Given the description of an element on the screen output the (x, y) to click on. 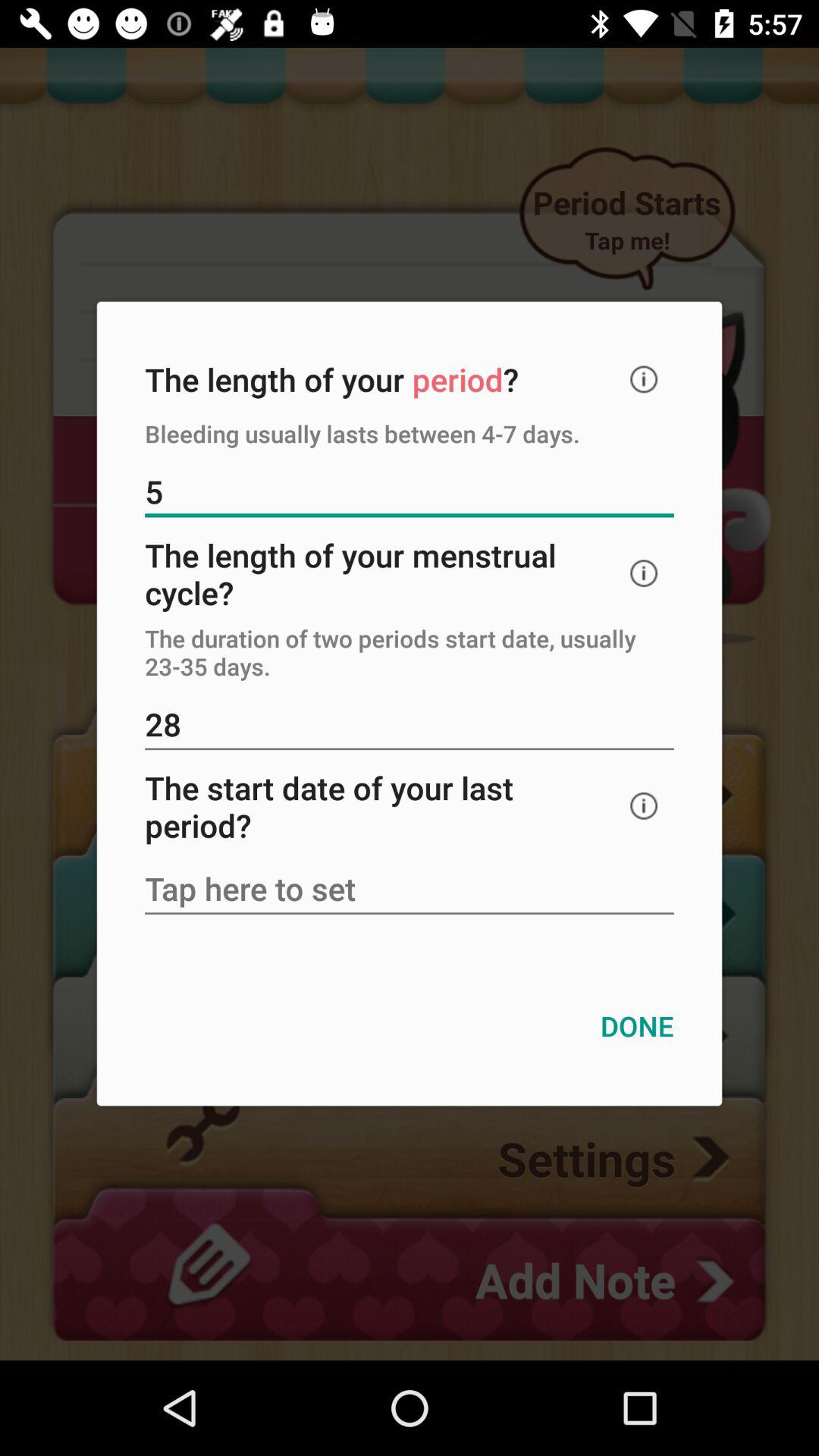
swipe to done icon (636, 1025)
